Given the description of an element on the screen output the (x, y) to click on. 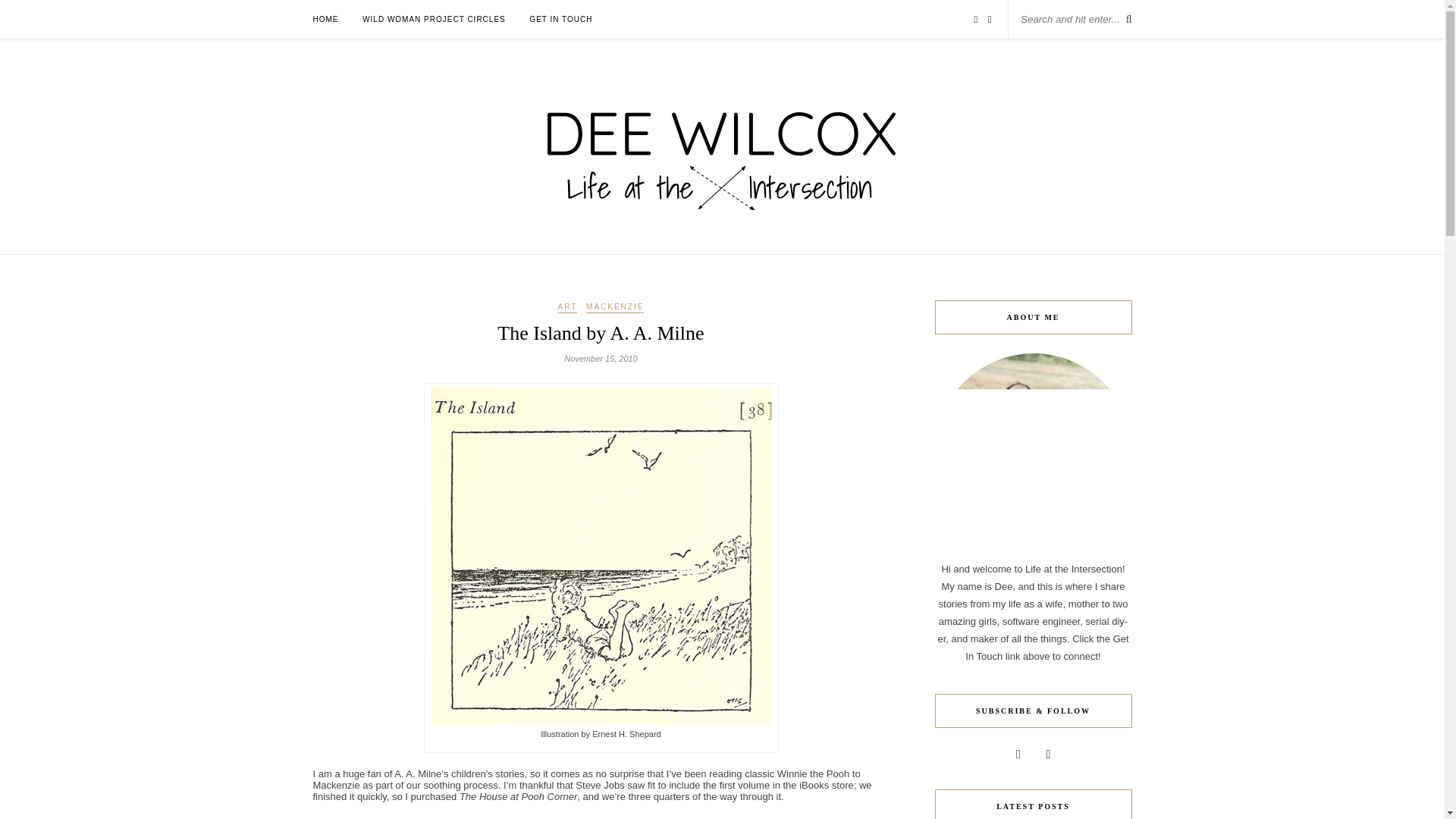
View all posts in Art (567, 307)
ART (567, 307)
WILD WOMAN PROJECT CIRCLES (433, 19)
MACKENZIE (614, 307)
GET IN TOUCH (560, 19)
View all posts in Mackenzie (614, 307)
